Given the description of an element on the screen output the (x, y) to click on. 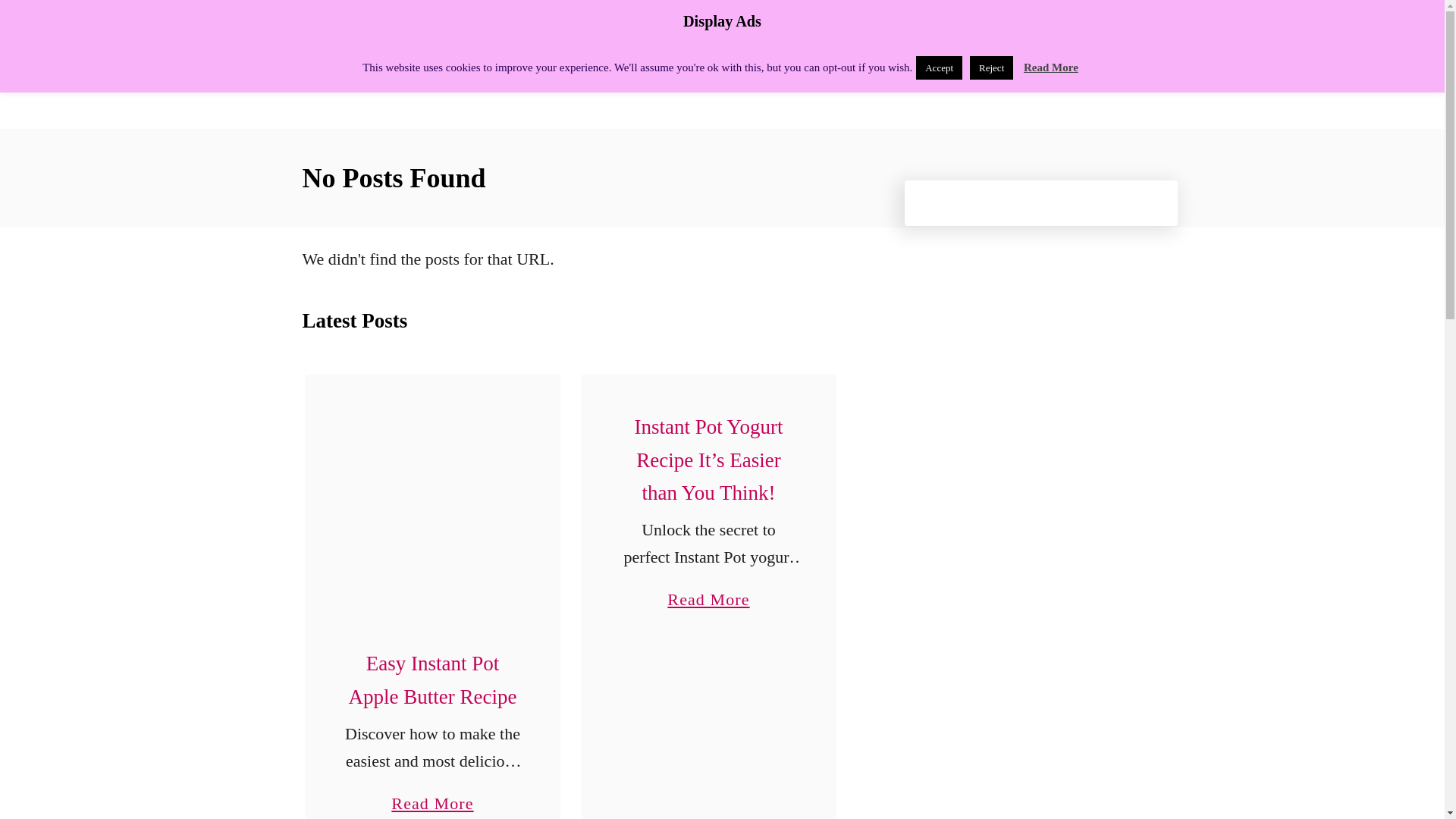
Reject (991, 67)
Easy Instant Pot Apple Butter Recipe (432, 679)
Mommy's Memorandum (433, 64)
Easy Instant Pot Apple Butter Recipe (432, 795)
Read More (432, 502)
Accept (1050, 67)
